Given the description of an element on the screen output the (x, y) to click on. 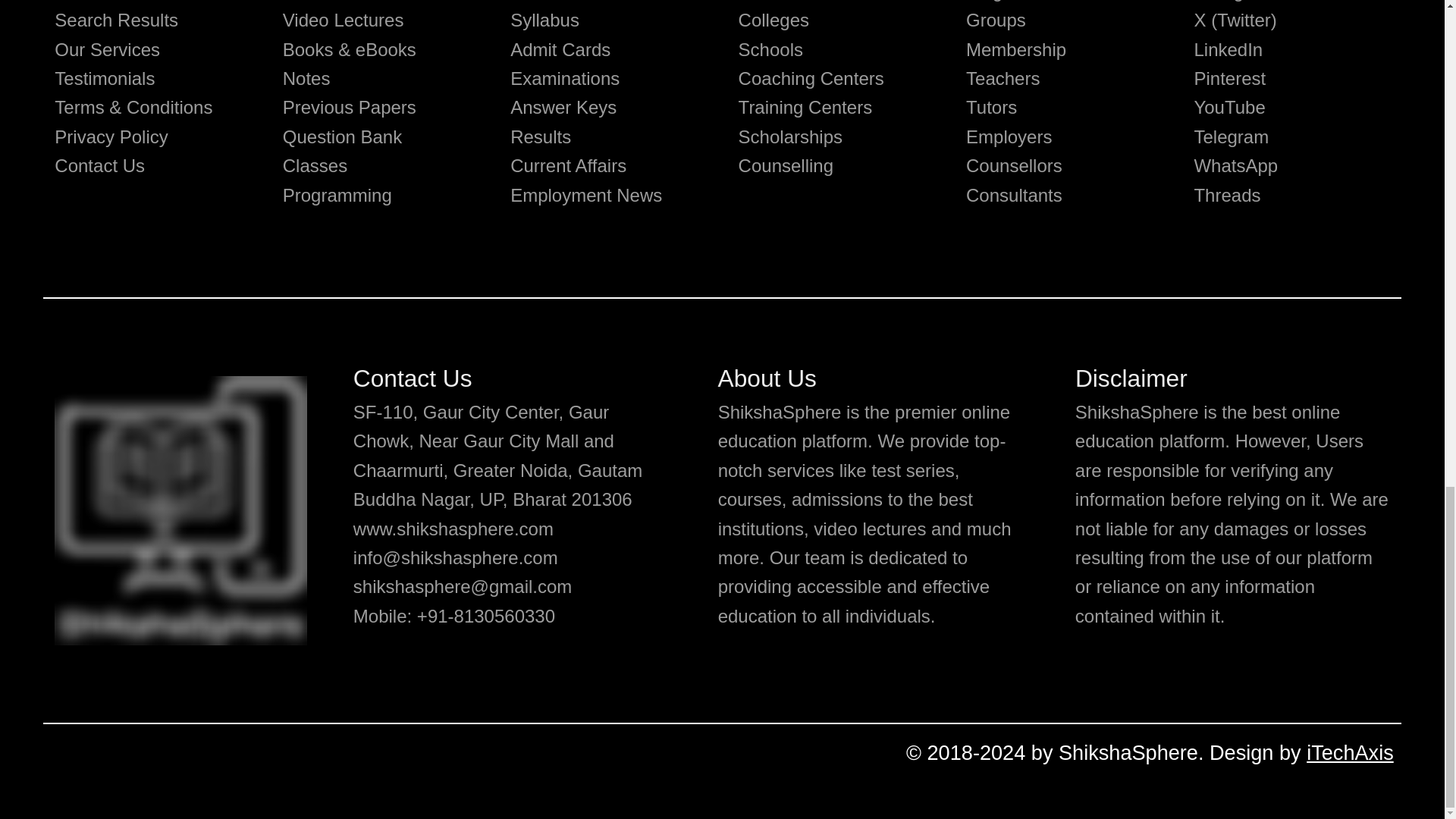
Search Results (116, 19)
Testimonials (104, 77)
Notes (306, 77)
Contact Us (99, 165)
About Us (92, 0)
Video Lectures (343, 19)
Our Services (107, 49)
Privacy Policy (111, 136)
